Given the description of an element on the screen output the (x, y) to click on. 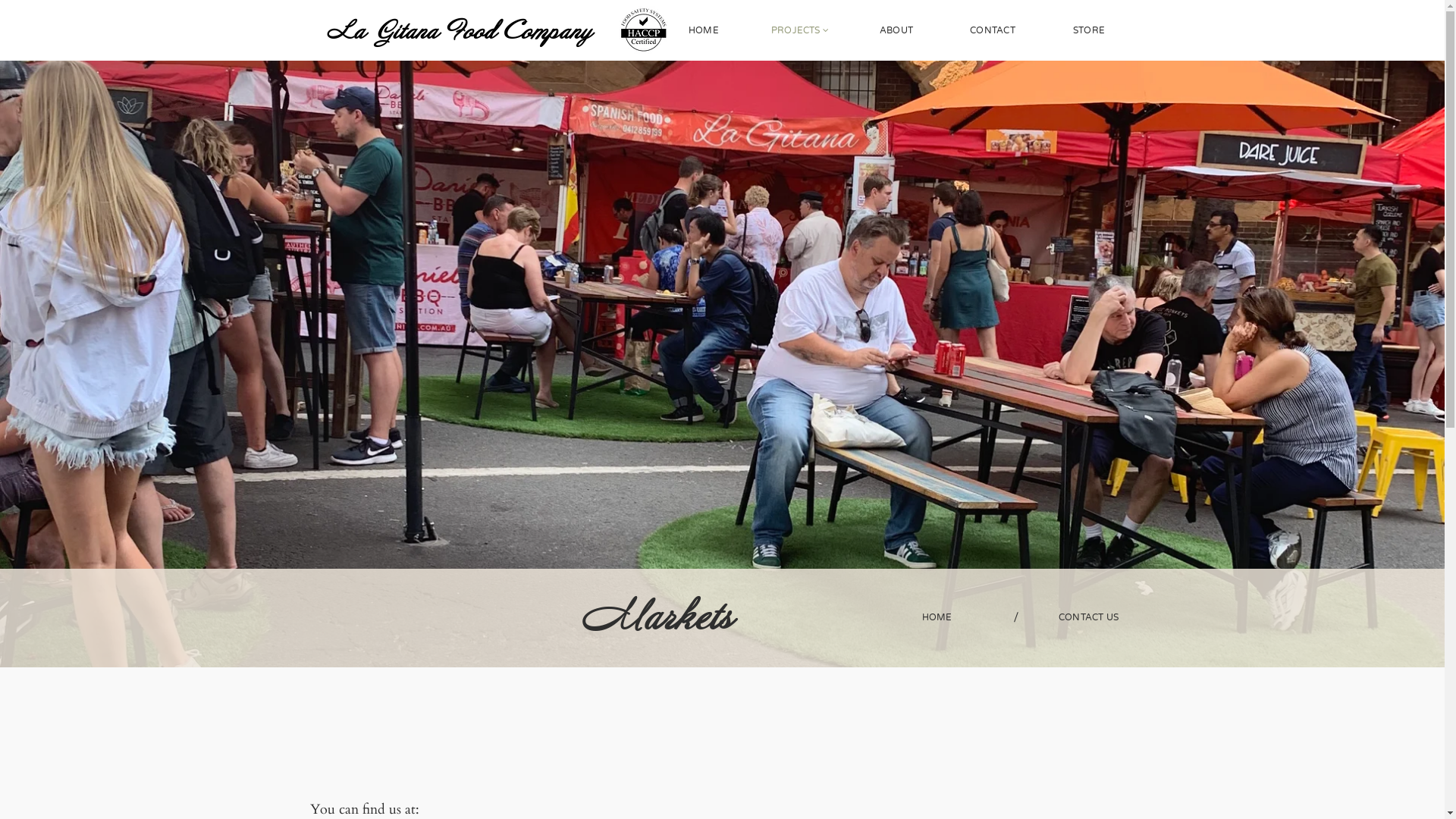
STORE Element type: text (1088, 29)
ABOUT Element type: text (895, 29)
CONTACT US Element type: text (1088, 617)
CONTACT Element type: text (992, 29)
PROJECTS Element type: text (800, 29)
La Gitana Food Company Element type: text (458, 32)
HOME Element type: text (703, 29)
HOME Element type: text (937, 617)
